Given the description of an element on the screen output the (x, y) to click on. 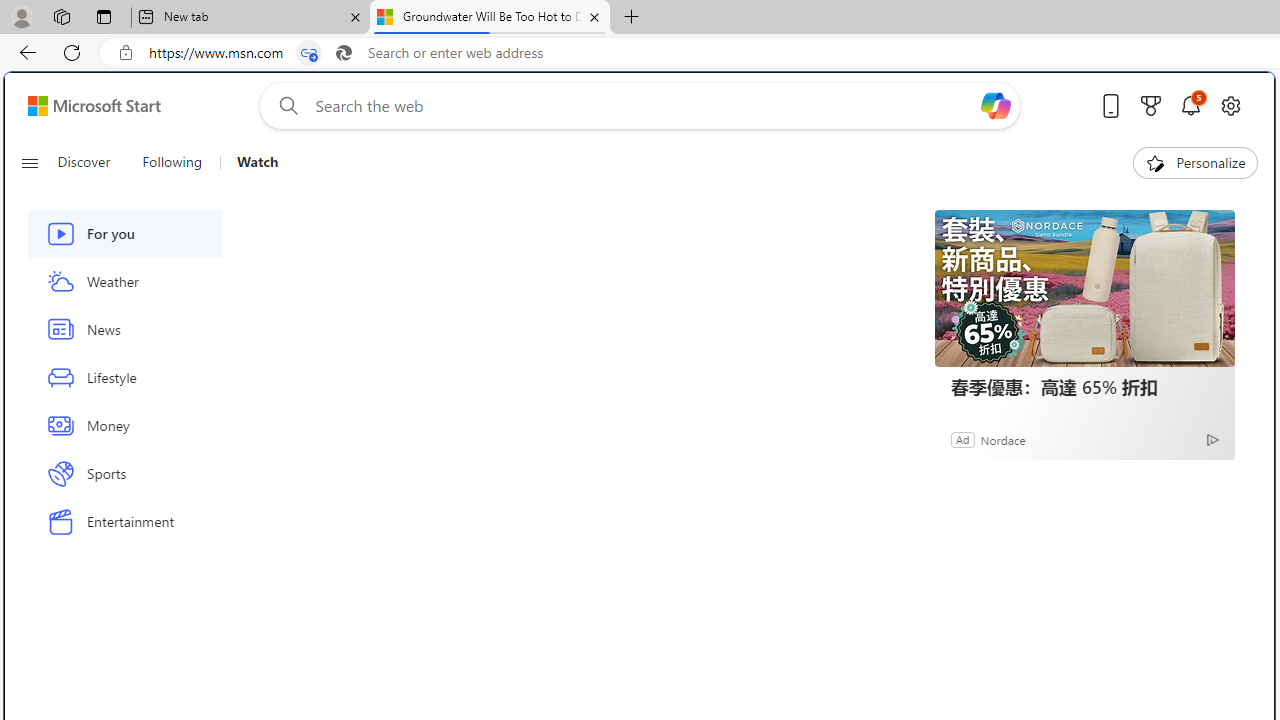
Skip to footer (82, 105)
Ad Choice (1212, 439)
Search icon (343, 53)
Discover (91, 162)
Enter your search term (644, 106)
Open Copilot (995, 105)
Personalize (1195, 162)
Open navigation menu (29, 162)
